Given the description of an element on the screen output the (x, y) to click on. 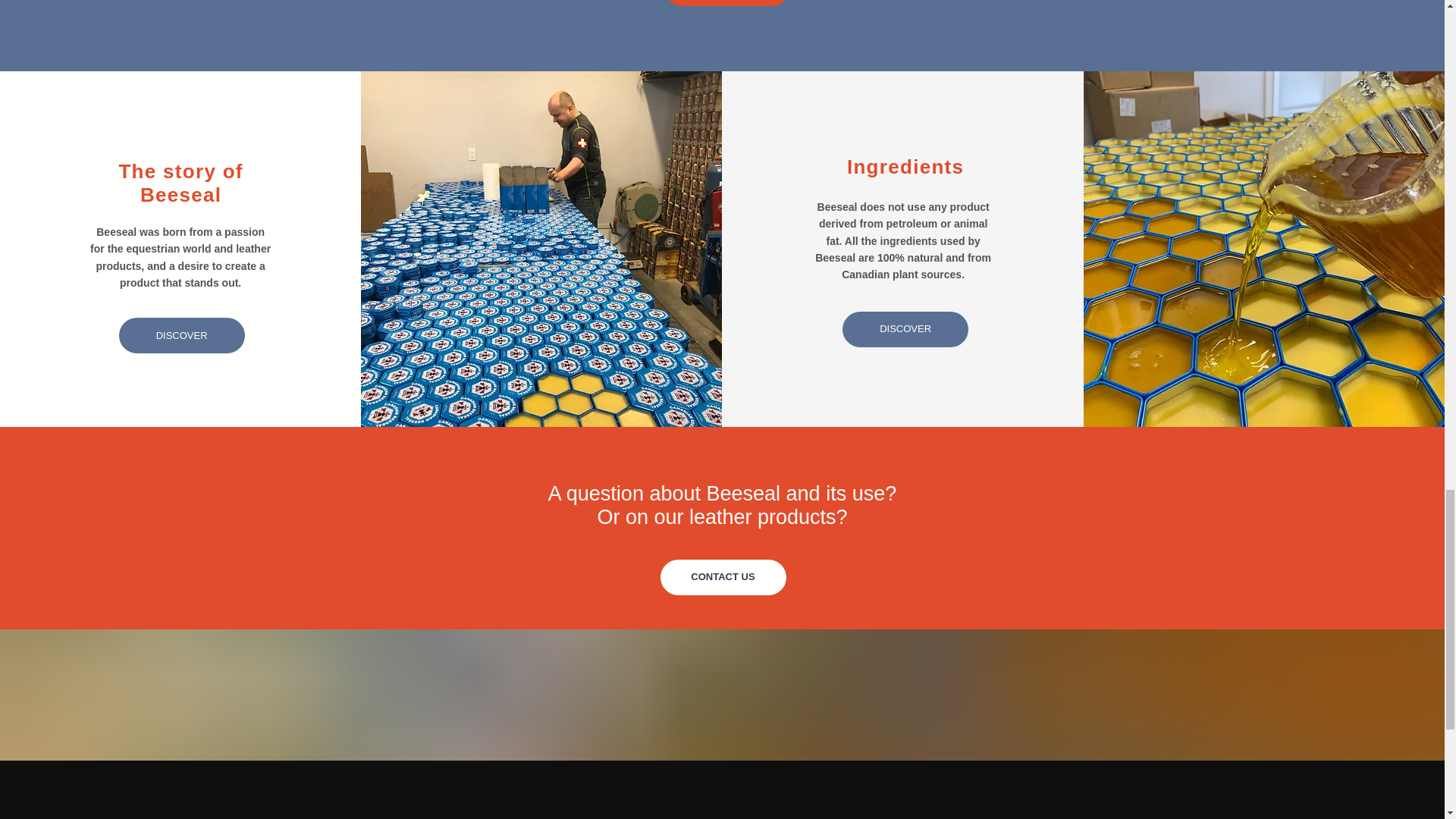
DISCOVER (181, 334)
CONTACT US (722, 577)
DISCOVER (905, 329)
BUY ONLINE (726, 2)
